Given the description of an element on the screen output the (x, y) to click on. 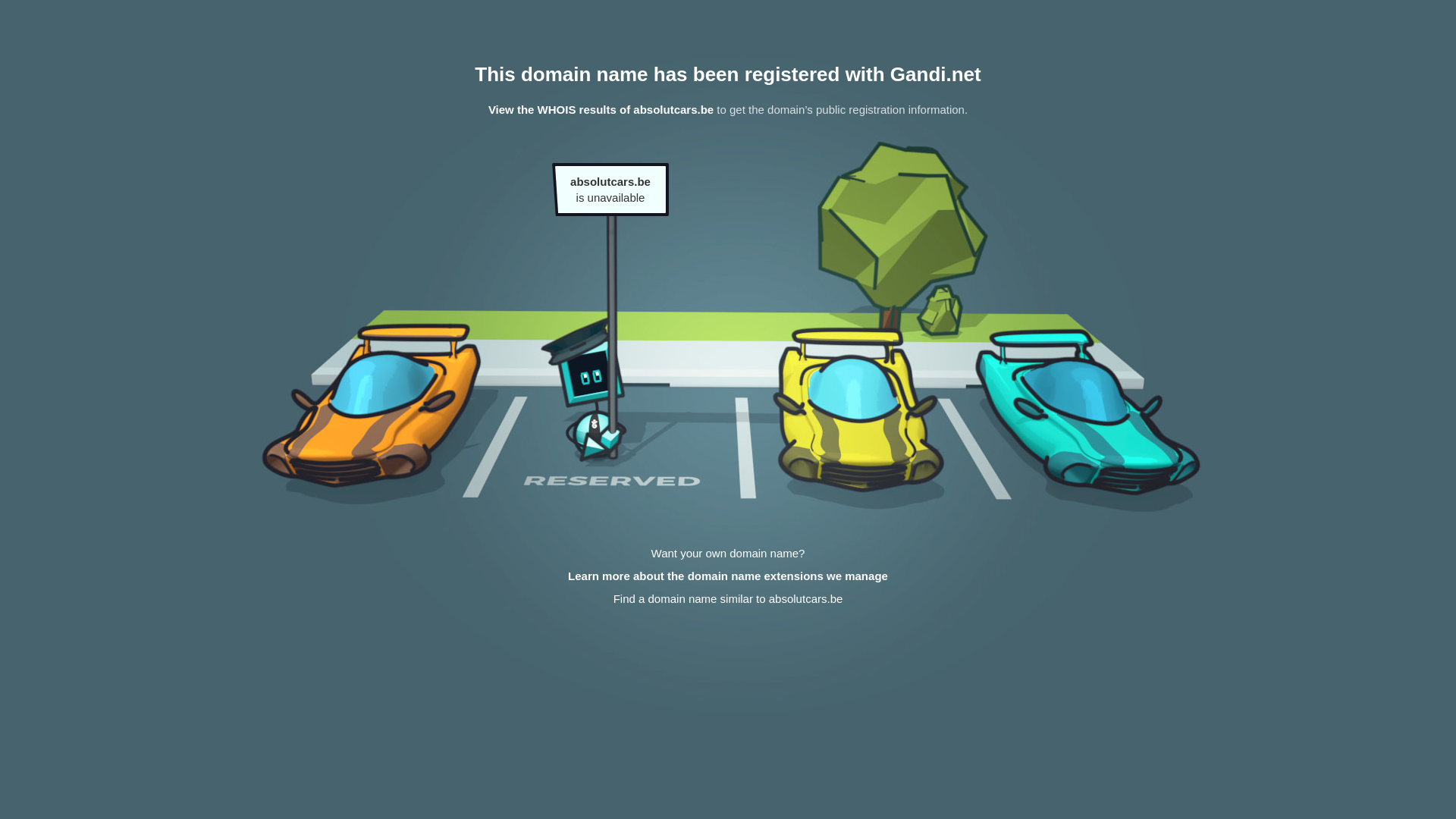
Find a domain name similar to absolutcars.be Element type: text (728, 598)
View the WHOIS results of absolutcars.be Element type: text (600, 109)
Learn more about the domain name extensions we manage Element type: text (727, 575)
